Given the description of an element on the screen output the (x, y) to click on. 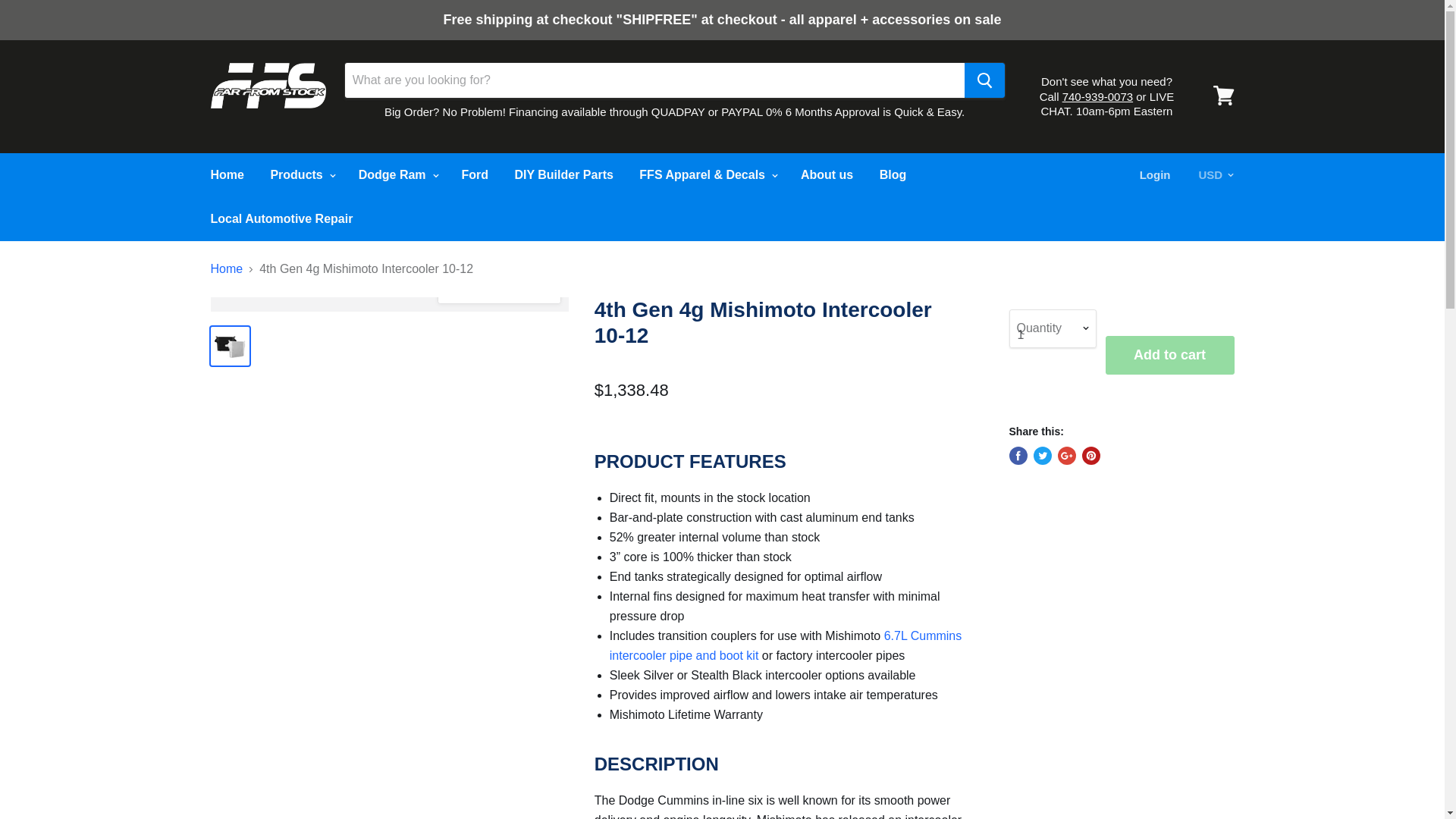
Home (226, 174)
View cart (1223, 95)
740-939-0073 (1097, 96)
Products (301, 174)
tel:740-939-0073 (1097, 96)
